Given the description of an element on the screen output the (x, y) to click on. 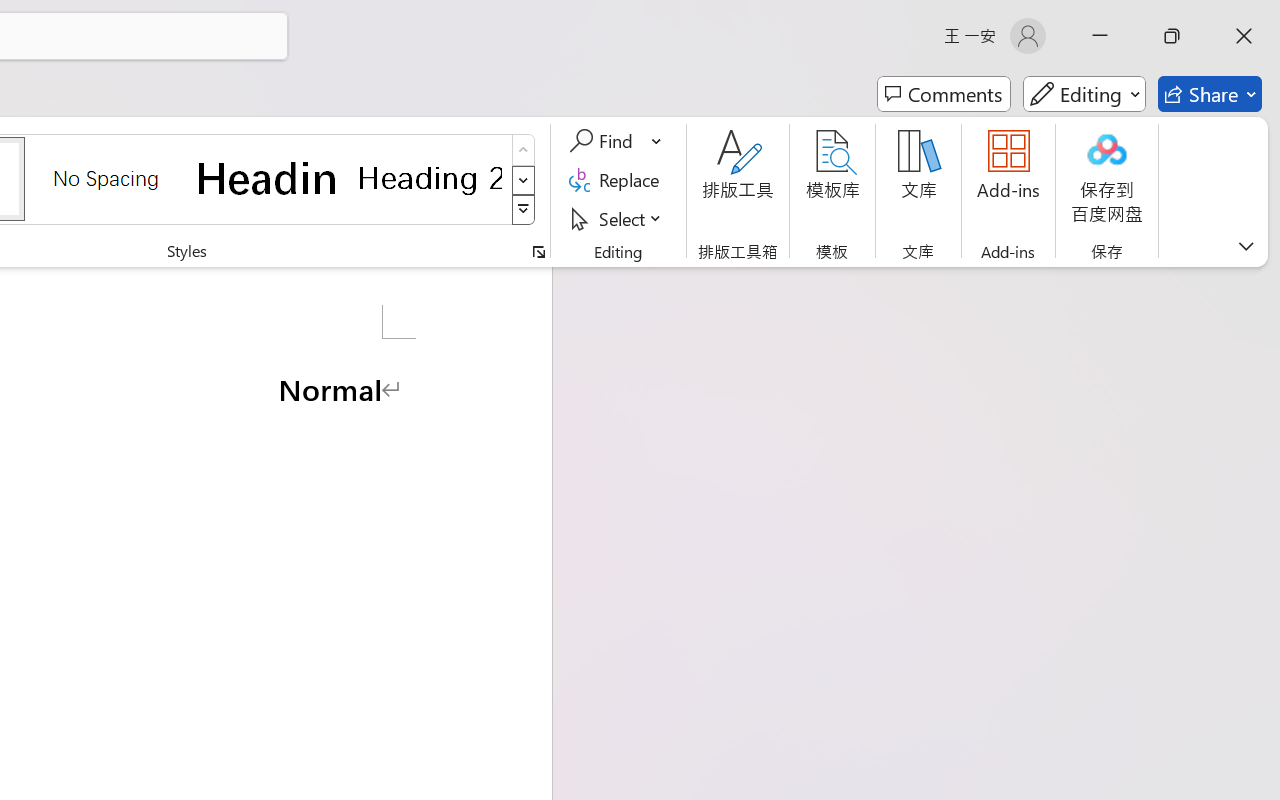
Replace... (617, 179)
Row up (523, 150)
Heading 1 (267, 178)
Heading 2 (429, 178)
